Given the description of an element on the screen output the (x, y) to click on. 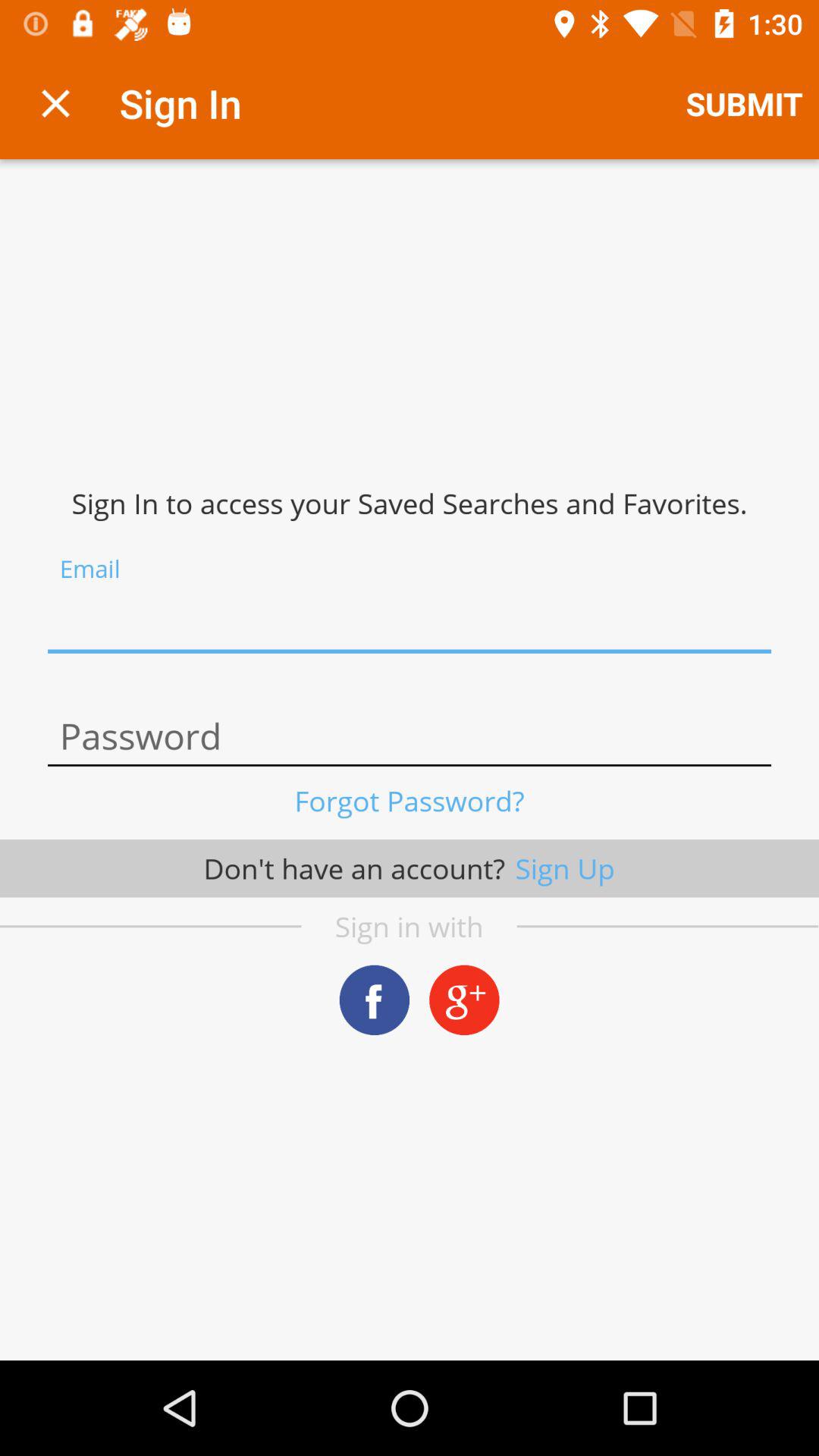
go to share (374, 1000)
